Given the description of an element on the screen output the (x, y) to click on. 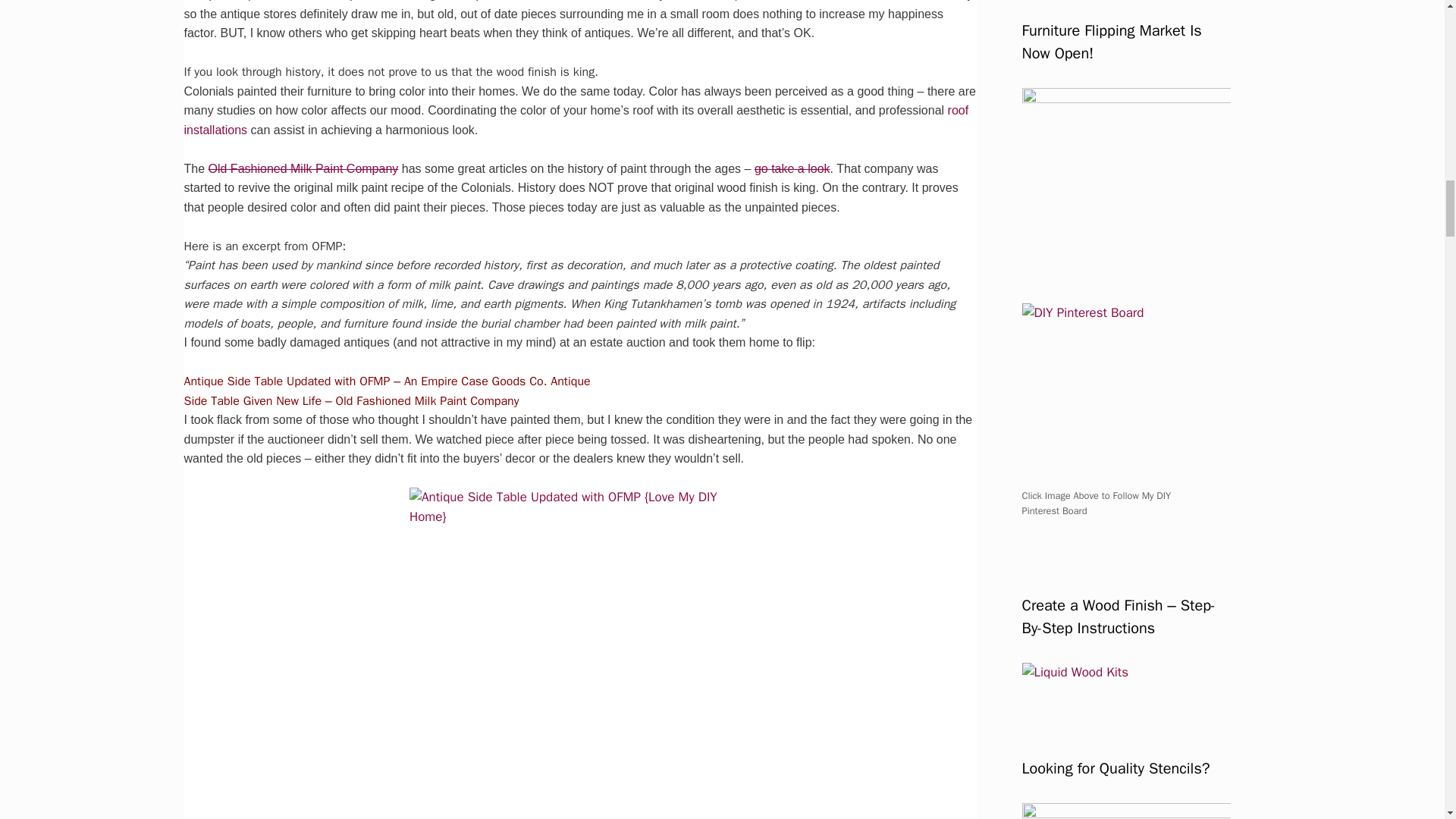
Old Fashioned Milk Paint Company (303, 168)
go take a look (791, 168)
Have You Tried Retique It Liquid Wood? (1126, 157)
roof installations (575, 120)
Click Here to Follow My Pinterest DIY Board (1113, 394)
